Given the description of an element on the screen output the (x, y) to click on. 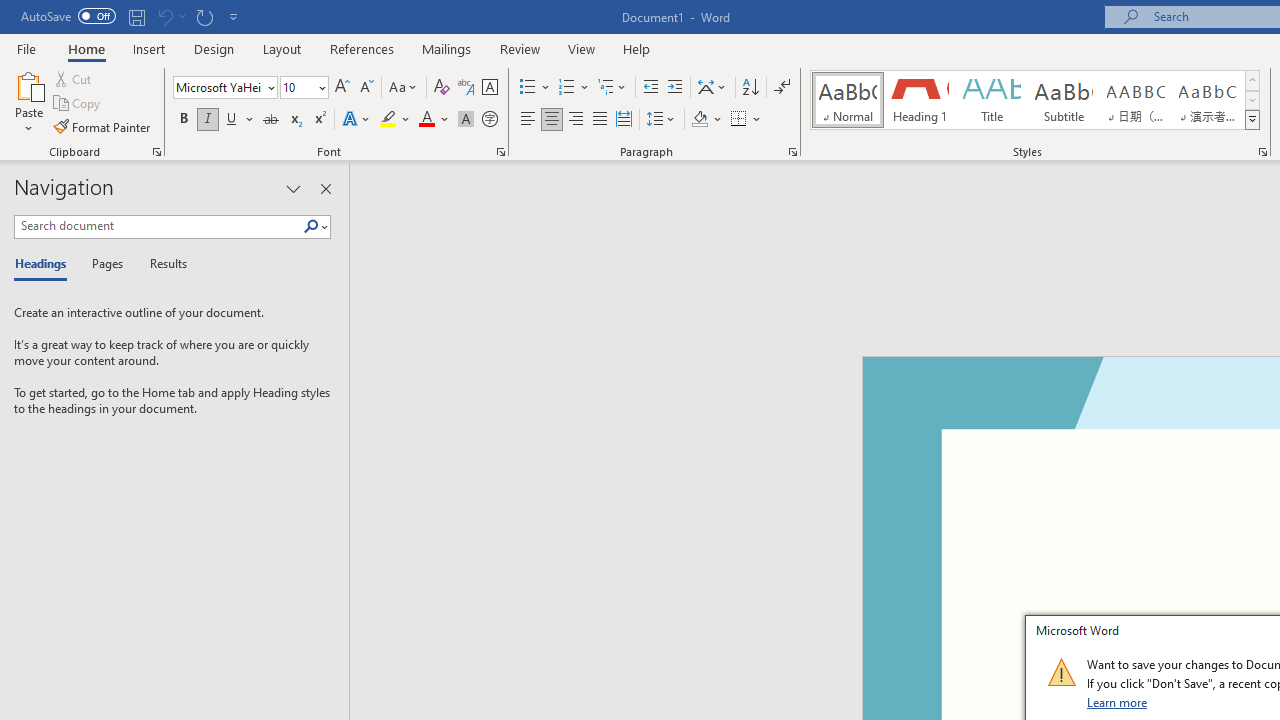
Copy (78, 103)
Office Clipboard... (156, 151)
Results (161, 264)
Change Case (404, 87)
Styles (1252, 120)
